Given the description of an element on the screen output the (x, y) to click on. 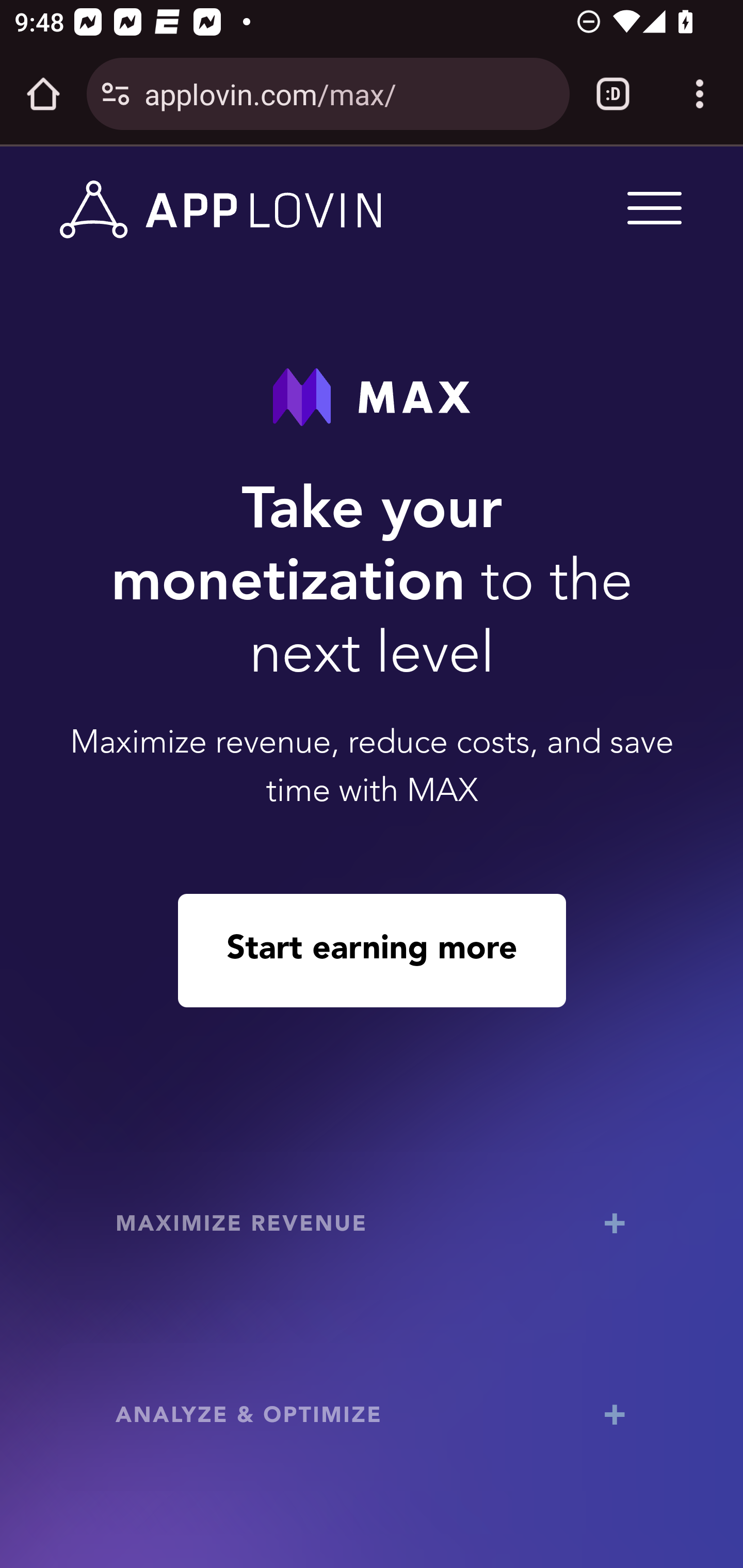
Open the home page (43, 93)
Connection is secure (115, 93)
Switch or close tabs (612, 93)
Customize and control Google Chrome (699, 93)
applovin.com/max/ (349, 92)
Menu Trigger (650, 207)
www.applovin (220, 209)
Start earning more (371, 950)
